Given the description of an element on the screen output the (x, y) to click on. 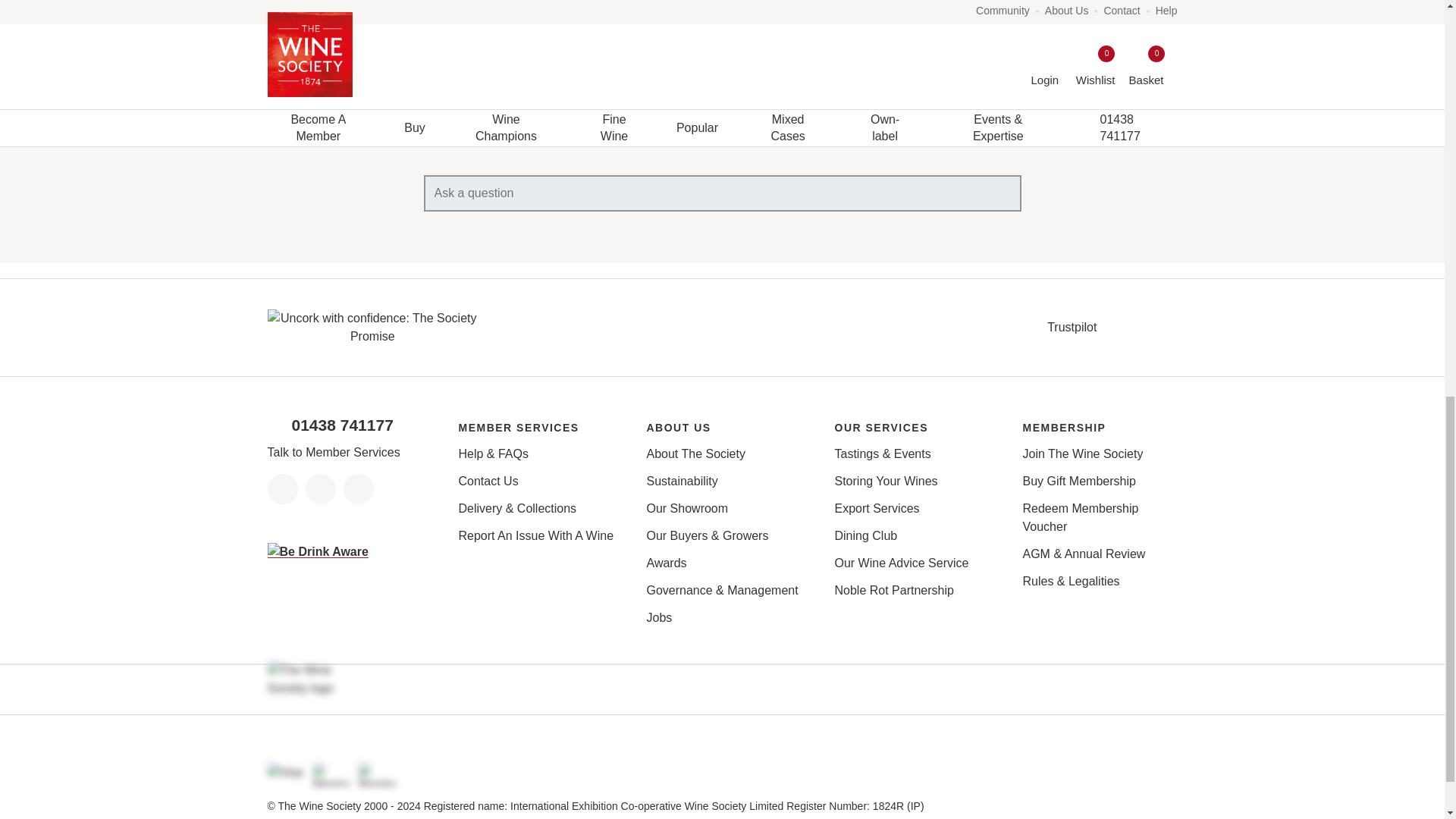
Visa (285, 774)
Mestro (331, 774)
Mastercard (377, 774)
